Given the description of an element on the screen output the (x, y) to click on. 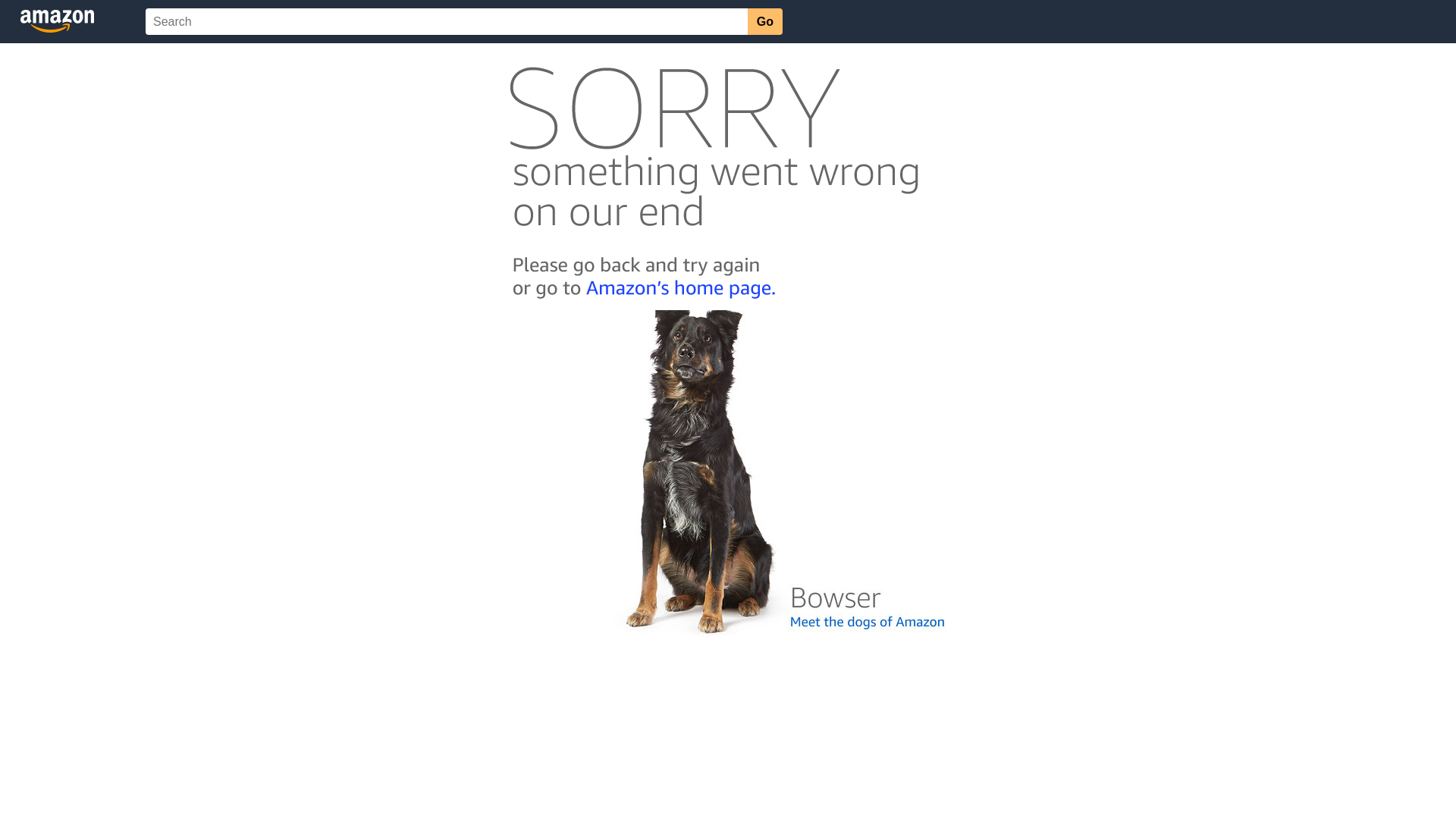
Go Element type: text (764, 21)
